Given the description of an element on the screen output the (x, y) to click on. 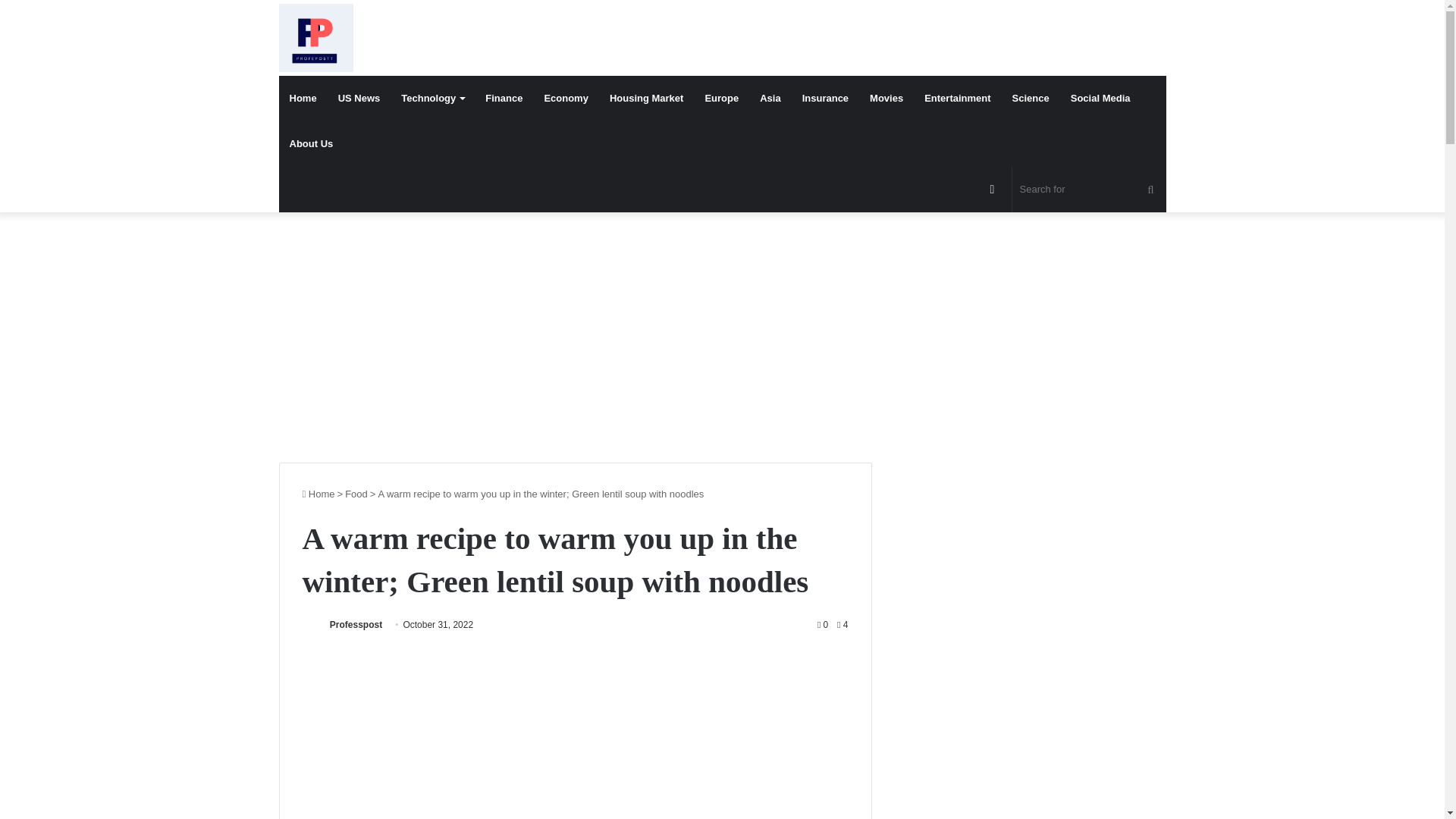
About Us (311, 144)
US News (359, 98)
Technology (432, 98)
Europe (721, 98)
Economy (565, 98)
Social Media (1100, 98)
Finance (503, 98)
Housing Market (646, 98)
Search for (1088, 189)
Professpost (355, 624)
